Given the description of an element on the screen output the (x, y) to click on. 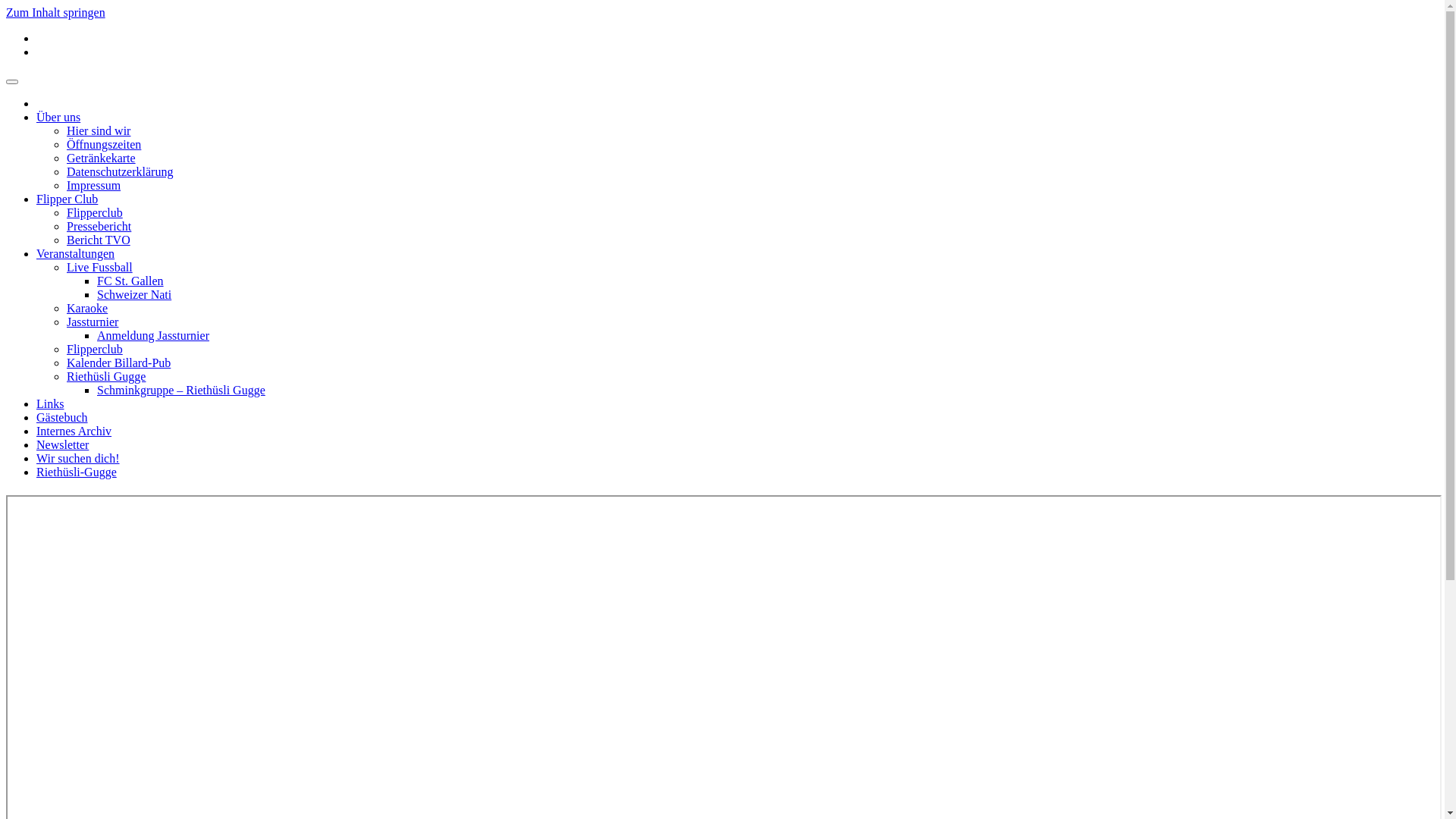
Newsletter Element type: text (62, 444)
Schweizer Nati Element type: text (134, 294)
Veranstaltungen Element type: text (75, 253)
Flipper Club Element type: text (66, 198)
FC St. Gallen Element type: text (130, 280)
Karaoke Element type: text (86, 307)
Hier sind wir Element type: text (98, 130)
Internes Archiv Element type: text (73, 430)
Flipperclub Element type: text (94, 348)
Impressum Element type: text (93, 184)
Pressebericht Element type: text (98, 225)
Billard Pub Element type: text (33, 89)
Wir suchen dich! Element type: text (77, 457)
Zum Inhalt springen Element type: text (55, 12)
Flipperclub Element type: text (94, 212)
Jassturnier Element type: text (92, 321)
Anmeldung Jassturnier Element type: text (153, 335)
Links Element type: text (49, 403)
Kalender Billard-Pub Element type: text (118, 362)
Live Fussball Element type: text (99, 266)
Bericht TVO Element type: text (98, 239)
